Given the description of an element on the screen output the (x, y) to click on. 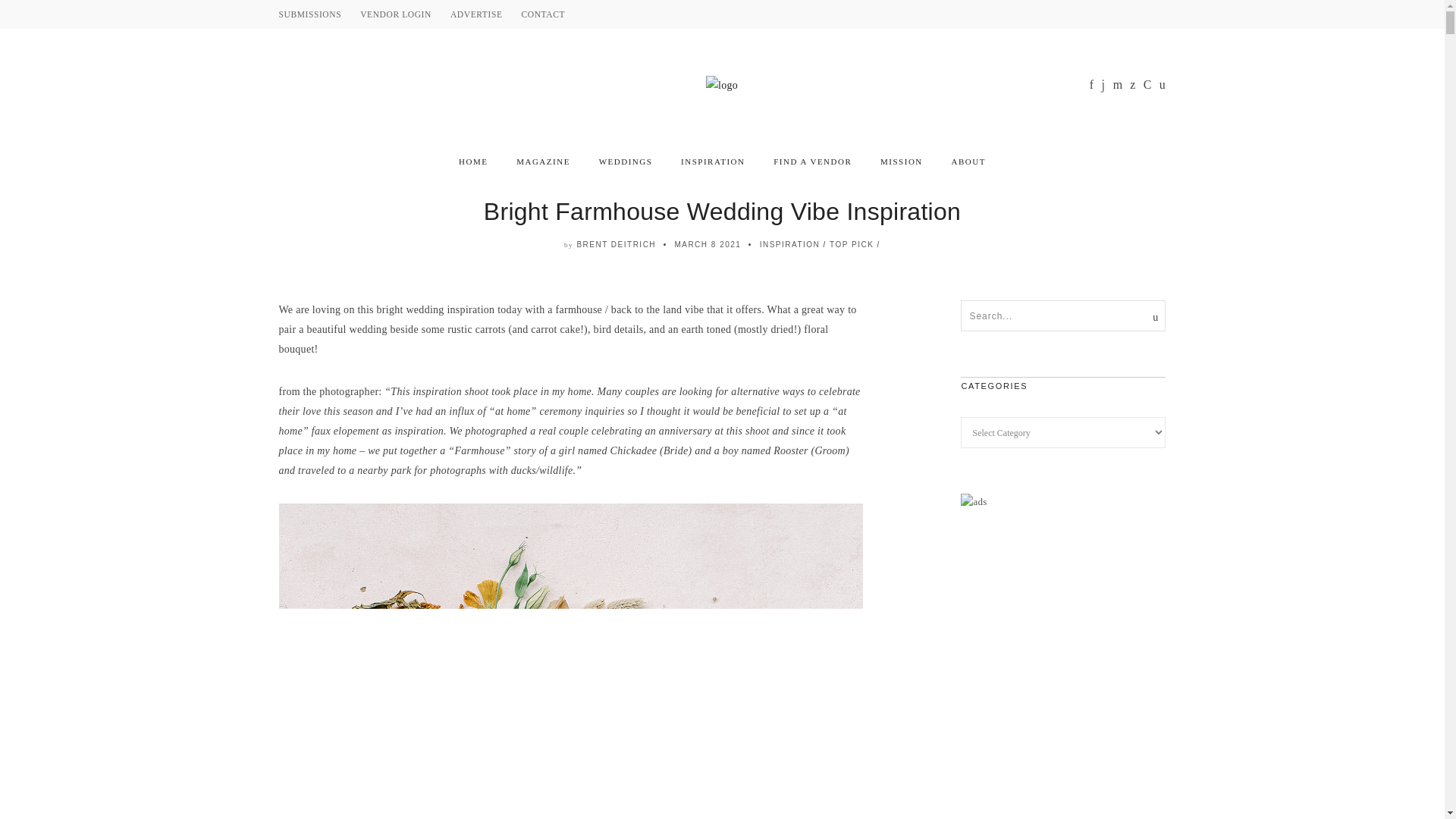
HOME (473, 161)
MAGAZINE (543, 161)
INSPIRATION (712, 161)
Bright Farmhouse Wedding Vibe Inspiration (721, 211)
MARCH 8 2021 (707, 244)
ABOUT (968, 161)
ADVERTISE (475, 13)
CONTACT (543, 13)
SUBMISSIONS (310, 13)
VENDOR LOGIN (394, 13)
